Given the description of an element on the screen output the (x, y) to click on. 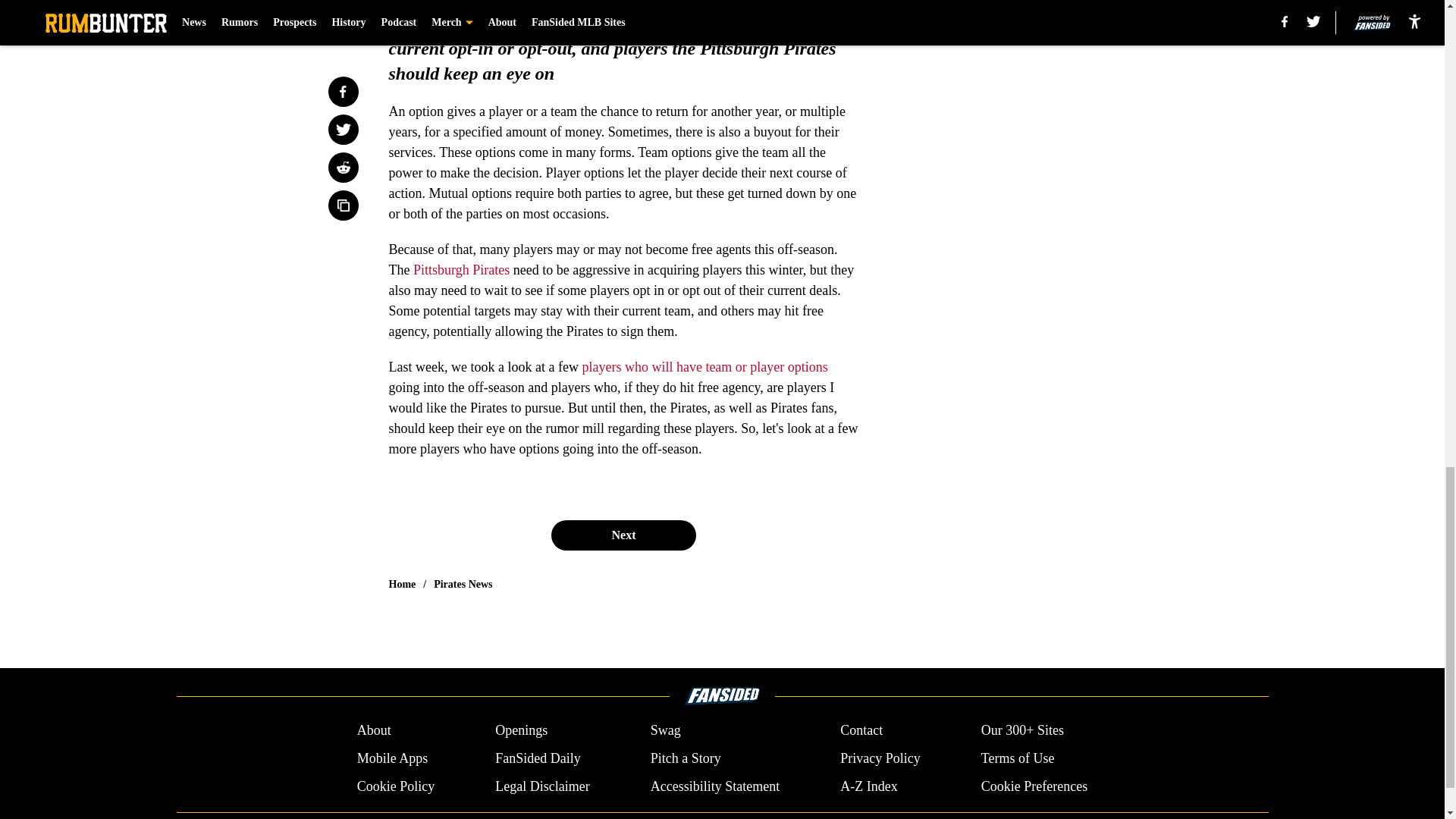
Openings (521, 730)
players who will have team or player options (703, 366)
Pitch a Story (685, 758)
Next (622, 535)
Home (401, 584)
FanSided Daily (537, 758)
Pirates News (462, 584)
Contact (861, 730)
Pittsburgh Pirates (461, 269)
Swag (665, 730)
